Given the description of an element on the screen output the (x, y) to click on. 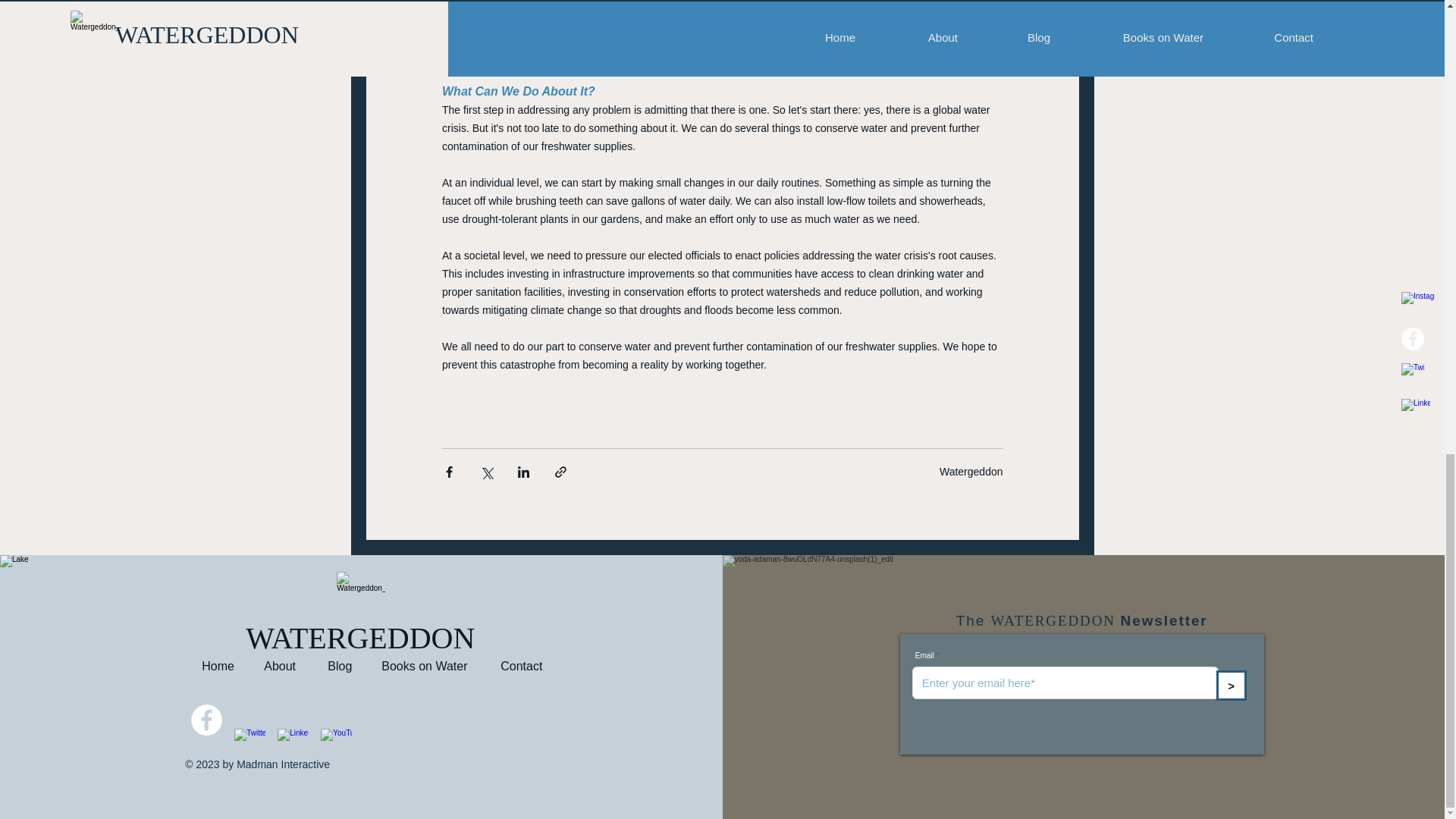
About (283, 666)
Blog (342, 666)
Contact (524, 666)
Home (220, 666)
Books on Water (429, 666)
Watergeddon (971, 471)
